Given the description of an element on the screen output the (x, y) to click on. 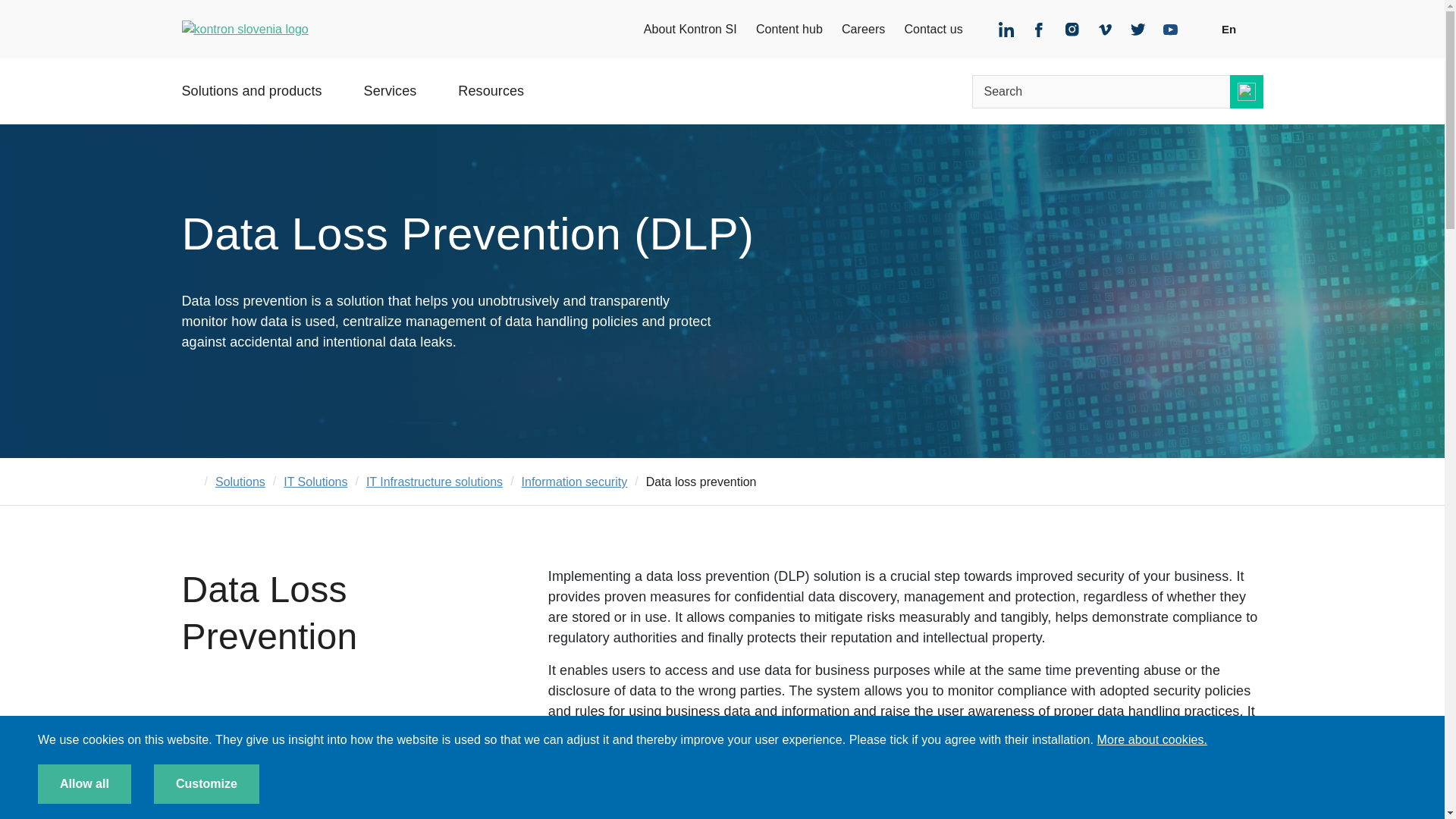
Careers (863, 29)
Solutions and products (251, 102)
About Kontron SI (689, 29)
Contact us (933, 29)
Services (390, 102)
Resources (491, 102)
En (1238, 29)
Content hub (788, 29)
